Given the description of an element on the screen output the (x, y) to click on. 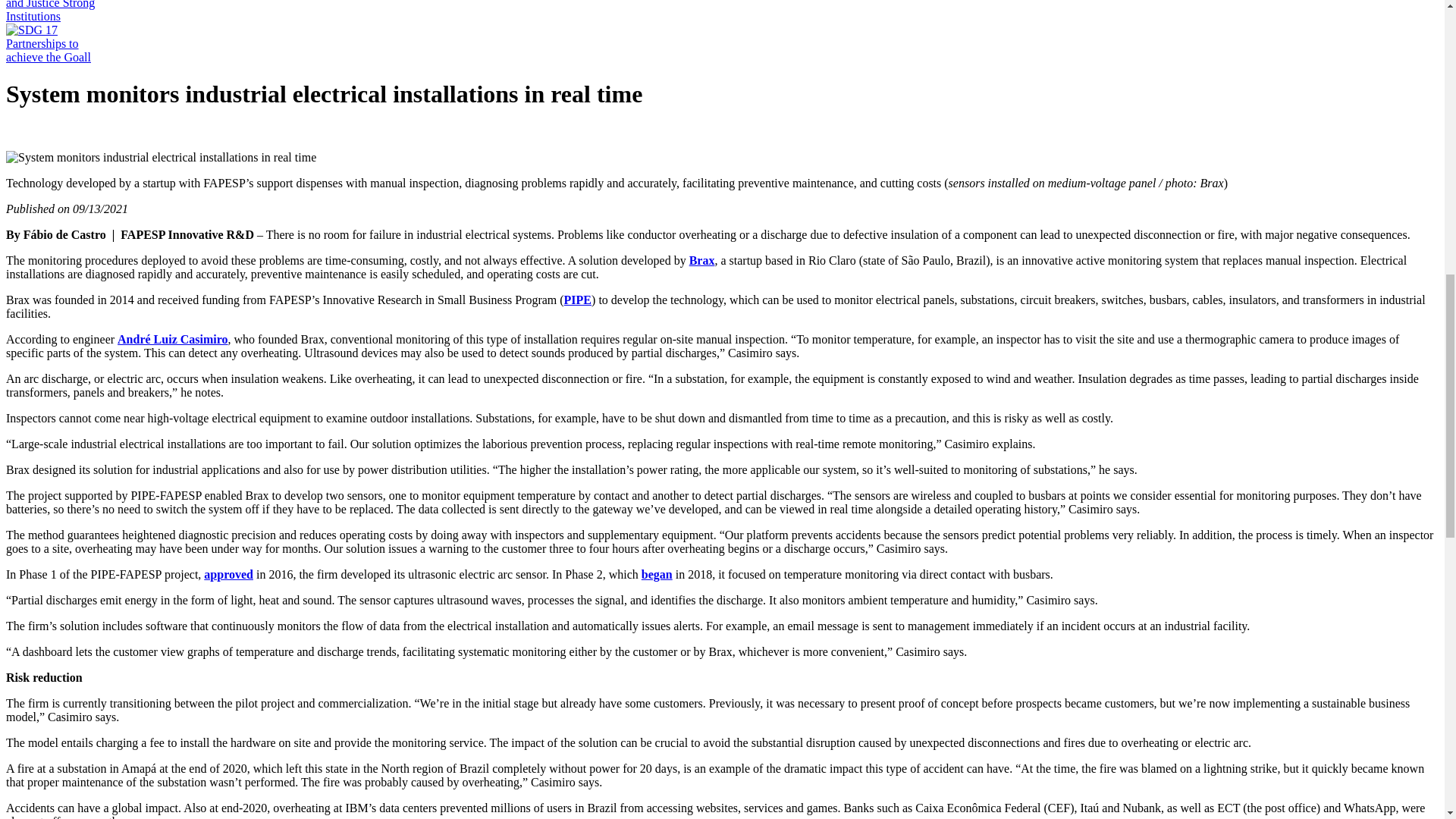
PIPE (577, 299)
Brax (701, 259)
approved (228, 574)
began (657, 574)
